Given the description of an element on the screen output the (x, y) to click on. 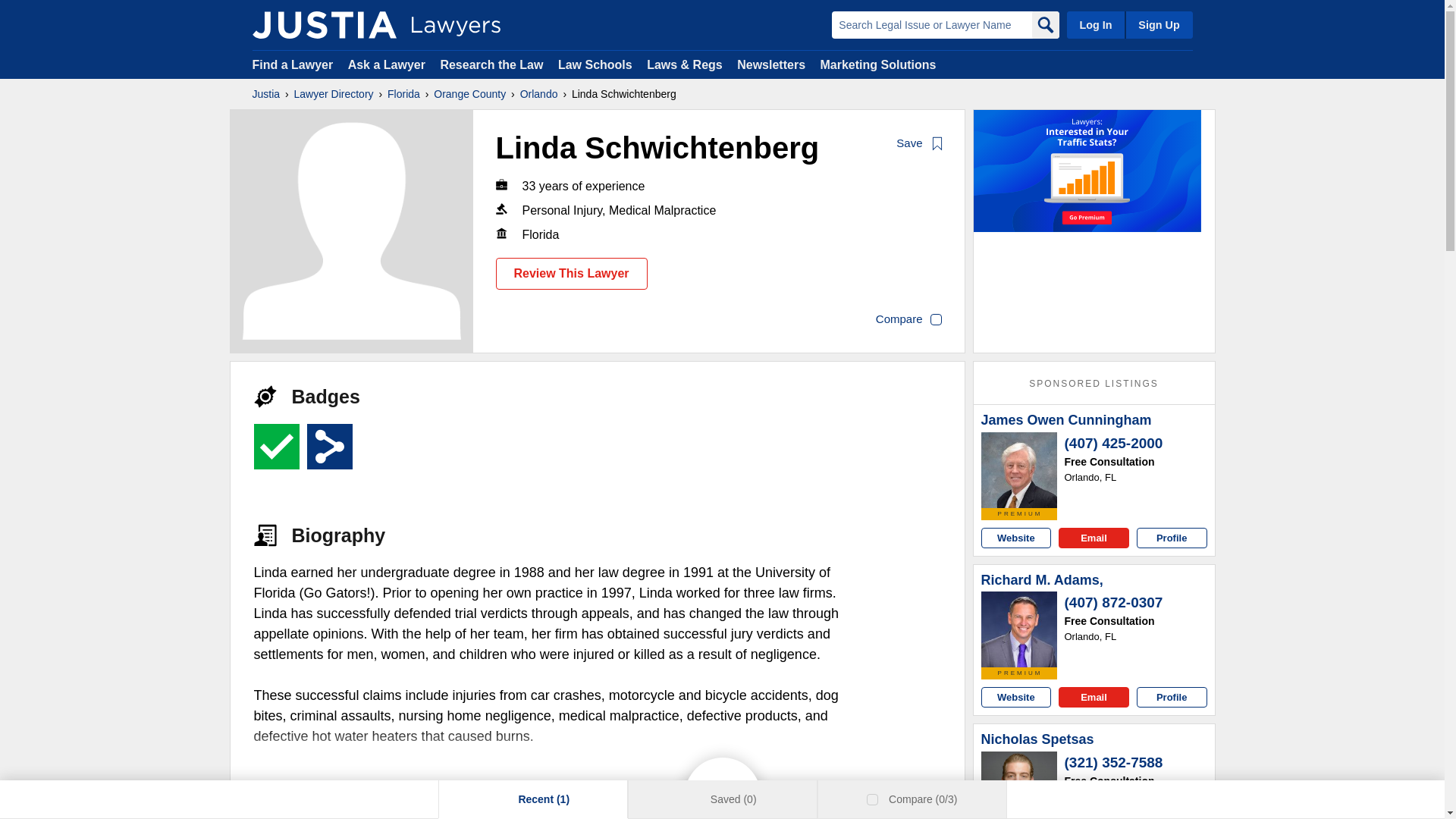
Justia (265, 93)
Richard M. Adams, (1019, 629)
Review This Lawyer (571, 273)
Search Legal Issue or Lawyer Name (930, 24)
Profile Image Placeholder (351, 230)
Orlando (538, 93)
Lawyer Directory (334, 93)
James Owen Cunningham (1019, 469)
Search (1044, 24)
Sign Up (1158, 24)
Florida (403, 93)
Nicholas Spetsas (1019, 785)
Marketing Solutions (877, 64)
Log In (1094, 24)
Ask a Lawyer (388, 64)
